Given the description of an element on the screen output the (x, y) to click on. 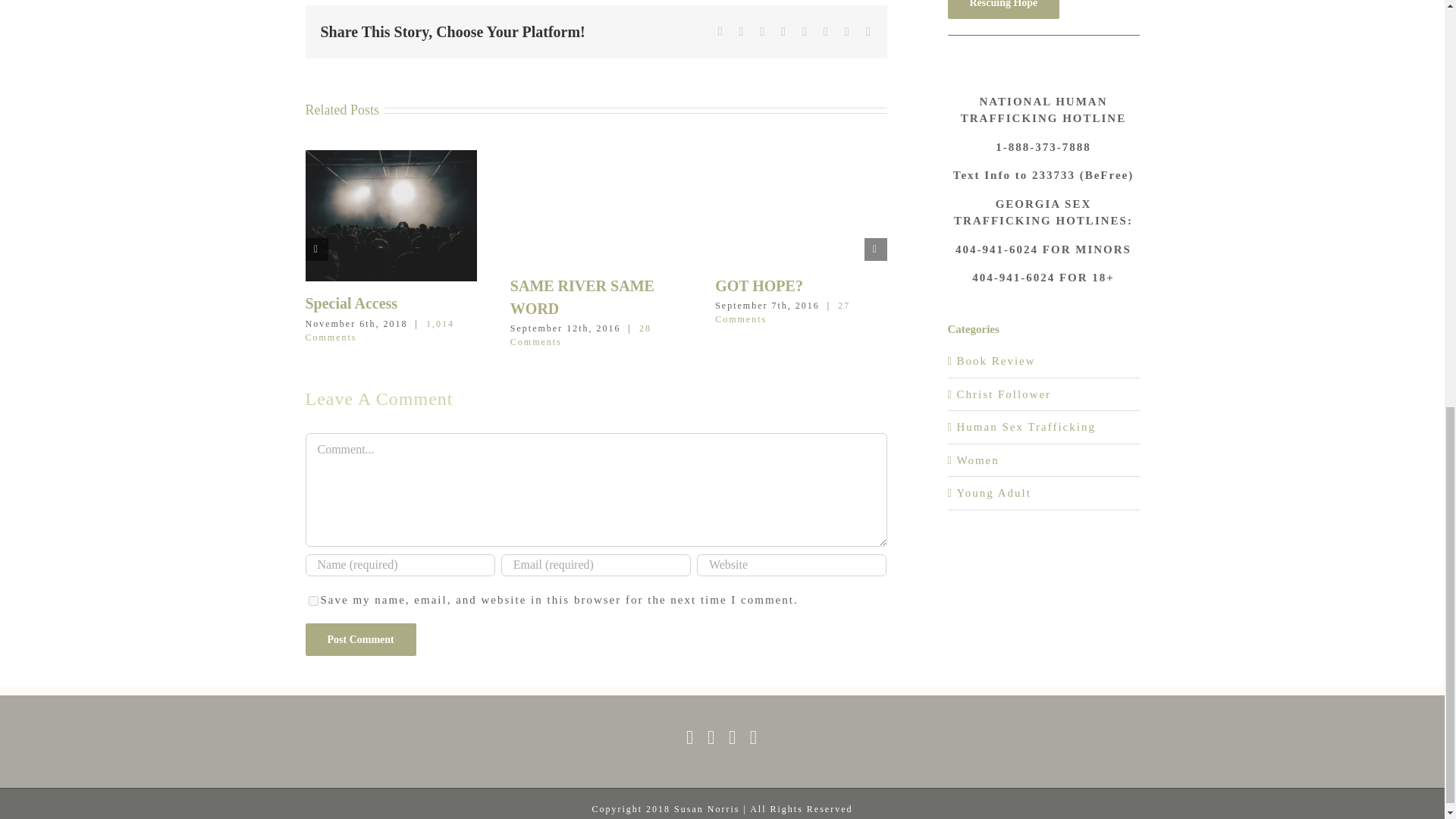
Special Access (350, 303)
27 Comments (782, 312)
Post Comment (359, 639)
GOT HOPE? (758, 285)
Post Comment (359, 639)
28 Comments (580, 334)
yes (312, 601)
1,014 Comments (378, 330)
SAME RIVER SAME WORD (582, 296)
GOT HOPE? (758, 285)
